Given the description of an element on the screen output the (x, y) to click on. 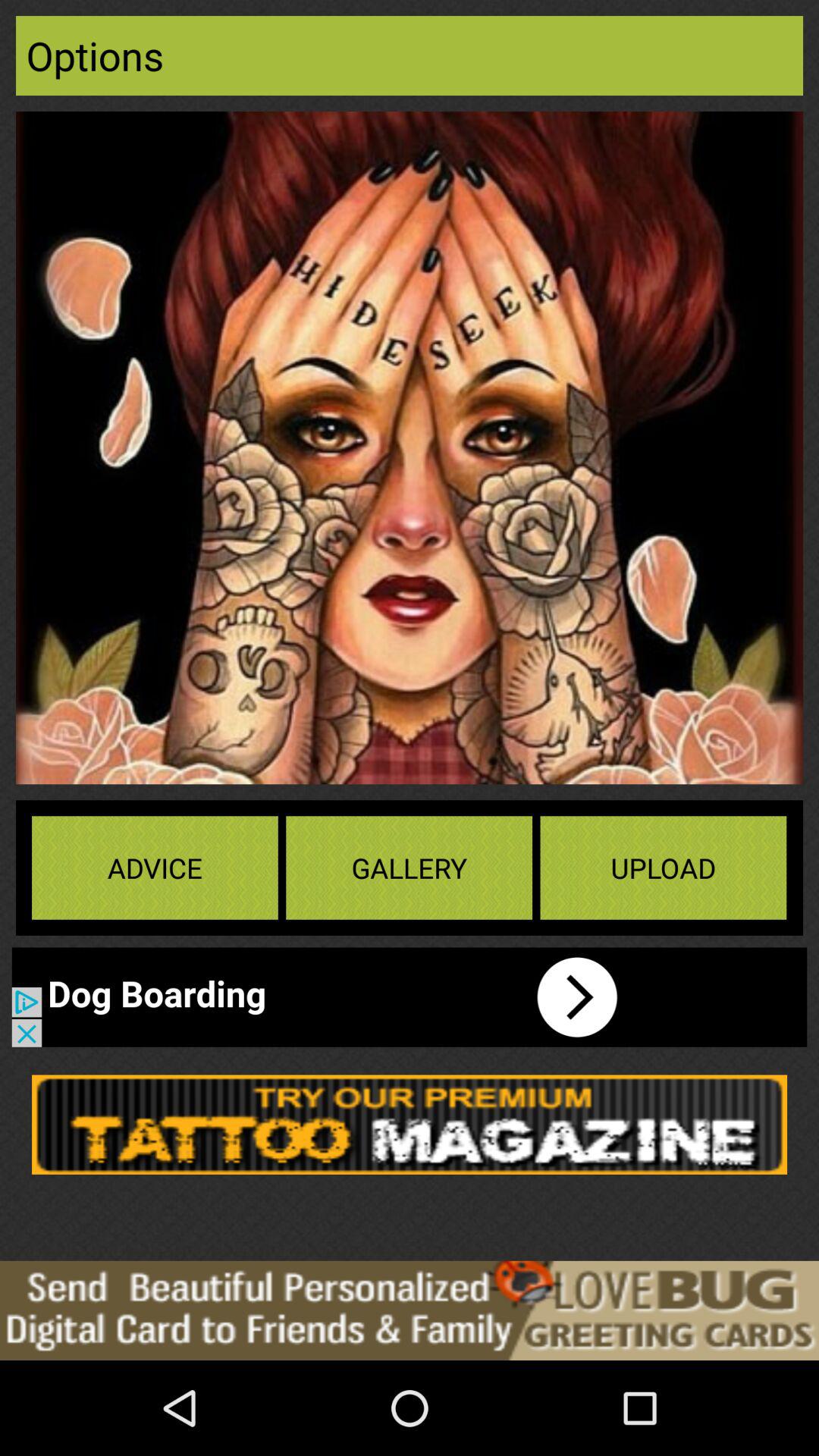
open advertisement (329, 997)
